Given the description of an element on the screen output the (x, y) to click on. 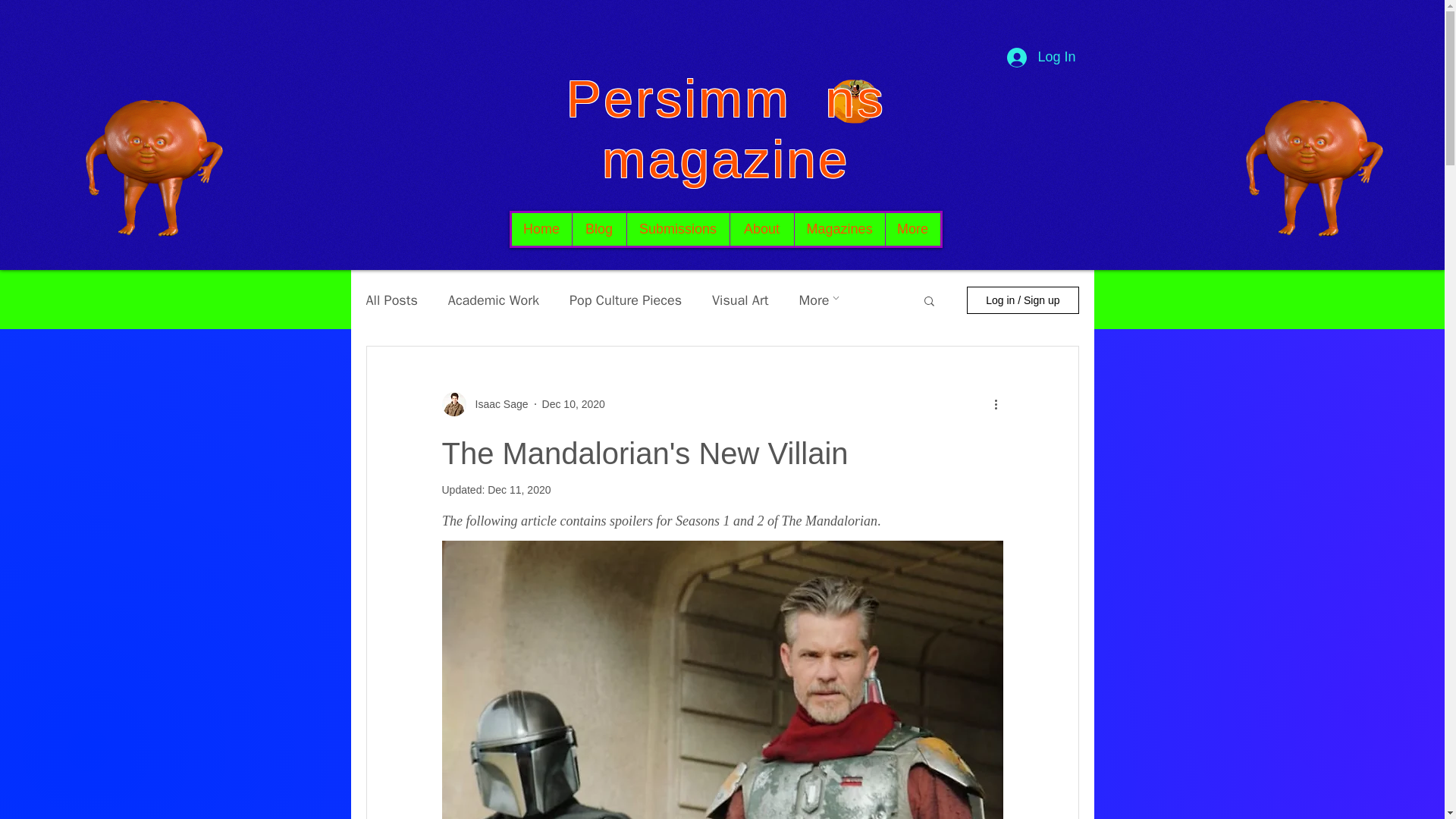
Magazines (839, 228)
Visual Art (739, 300)
Academic Work (493, 300)
Isaac Sage (484, 404)
Isaac Sage (496, 403)
Log In (1040, 57)
Blog (599, 228)
Submissions (677, 228)
About (761, 228)
Persimm  ns (725, 98)
